Given the description of an element on the screen output the (x, y) to click on. 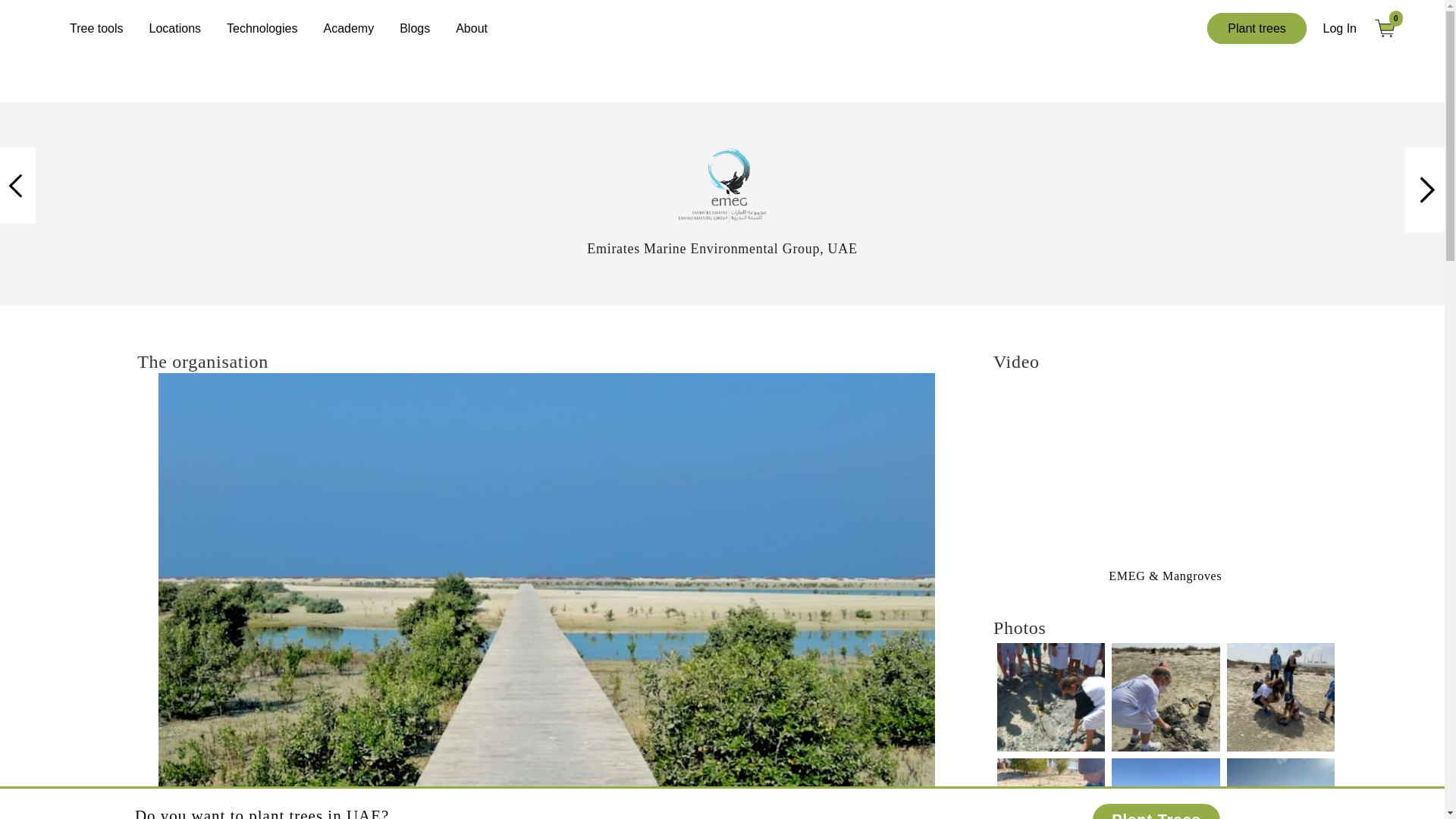
Technologies (262, 28)
Plant trees (1256, 28)
About (471, 28)
Locations (175, 28)
Tree tools (96, 28)
EMEG02 (721, 185)
Blogs (414, 28)
Log In (1340, 28)
0 (1390, 28)
EMEG and Mangroves (1165, 469)
